Given the description of an element on the screen output the (x, y) to click on. 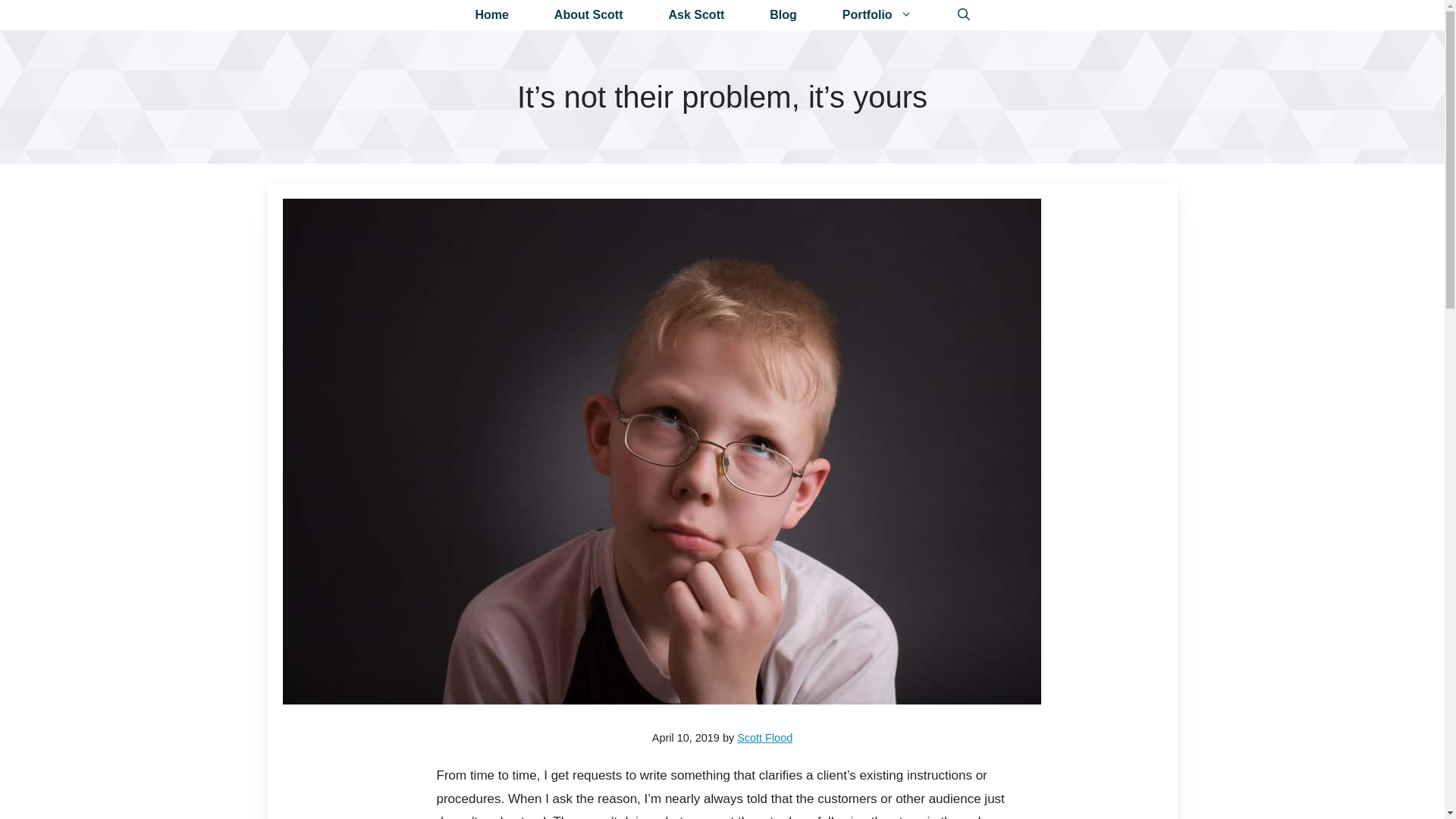
About Scott (588, 15)
FAQs (697, 15)
Ask Scott (697, 15)
About Scott Flood (588, 15)
Portfolio (876, 15)
View all posts by Scott Flood (764, 736)
Blog (782, 15)
Home (491, 15)
Scott Flood (764, 736)
